Given the description of an element on the screen output the (x, y) to click on. 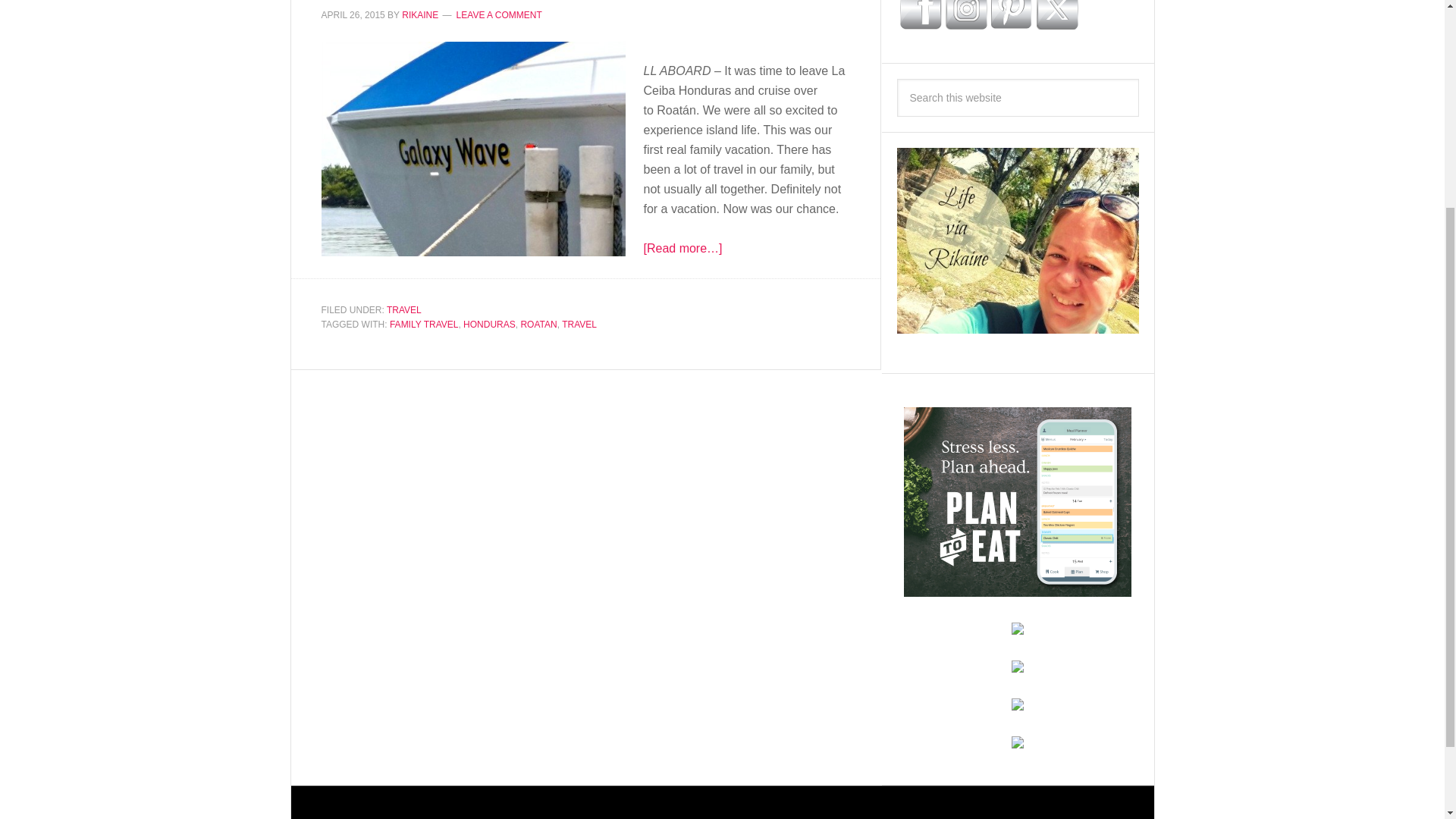
LEAVE A COMMENT (499, 14)
RIKAINE (419, 14)
TRAVEL (579, 324)
Instagram (965, 14)
Pinterest (1011, 14)
Twitter (1056, 14)
HONDURAS (489, 324)
Simple Meal Planning - Plan to Eat (1017, 589)
Facebook (919, 14)
